Given the description of an element on the screen output the (x, y) to click on. 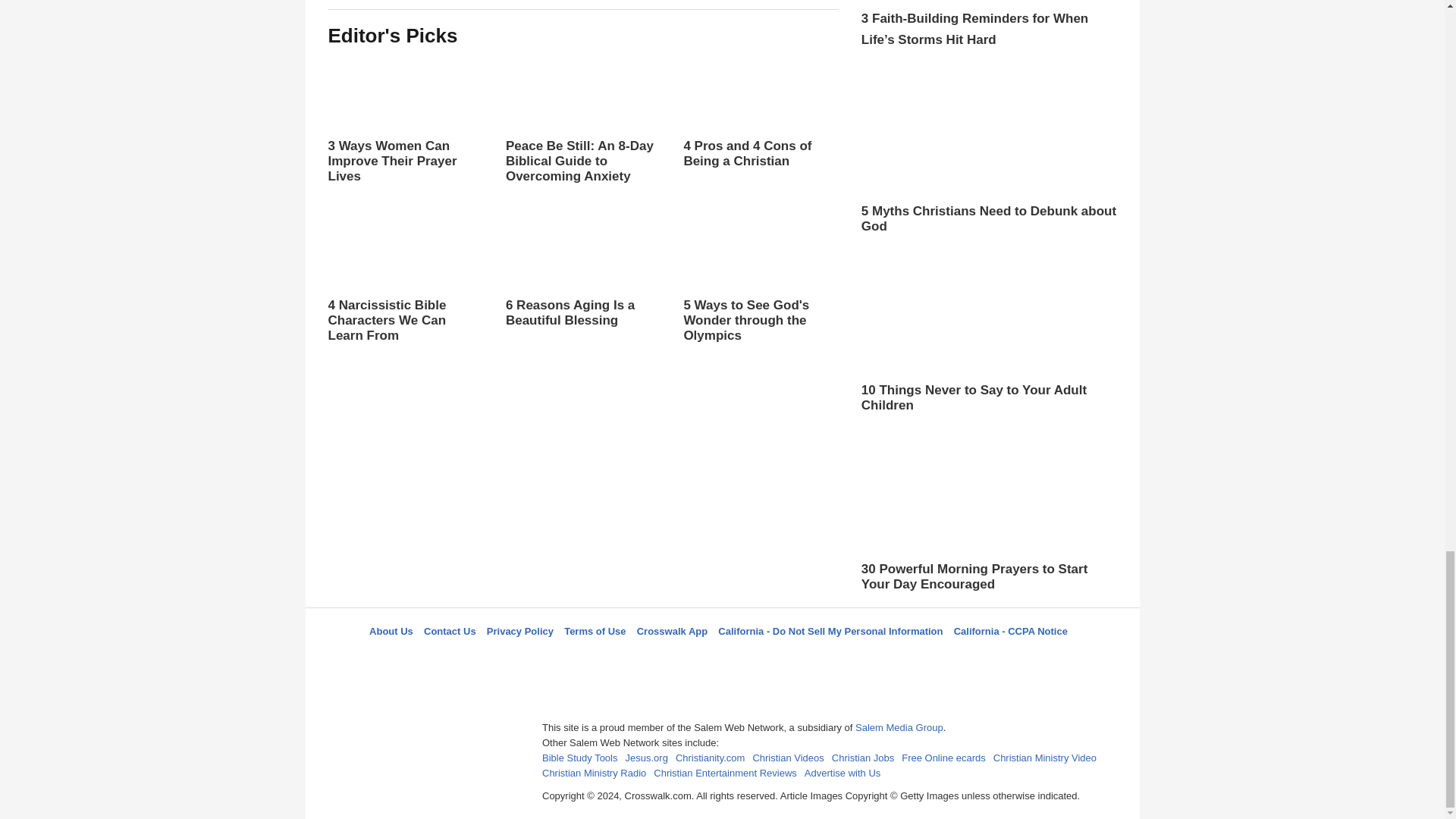
4 Pros and 4 Cons of Being a Christian (760, 111)
LifeAudio (719, 658)
6 Reasons Aging Is a Beautiful Blessing (583, 284)
4 Narcissistic Bible Characters We Can Learn From (404, 277)
Twitter (683, 658)
Facebook (645, 658)
3 Ways Women Can Improve Their Prayer Lives (404, 119)
Pinterest (757, 658)
YouTube (795, 658)
5 Ways to See God's Wonder through the Olympics (760, 277)
